Given the description of an element on the screen output the (x, y) to click on. 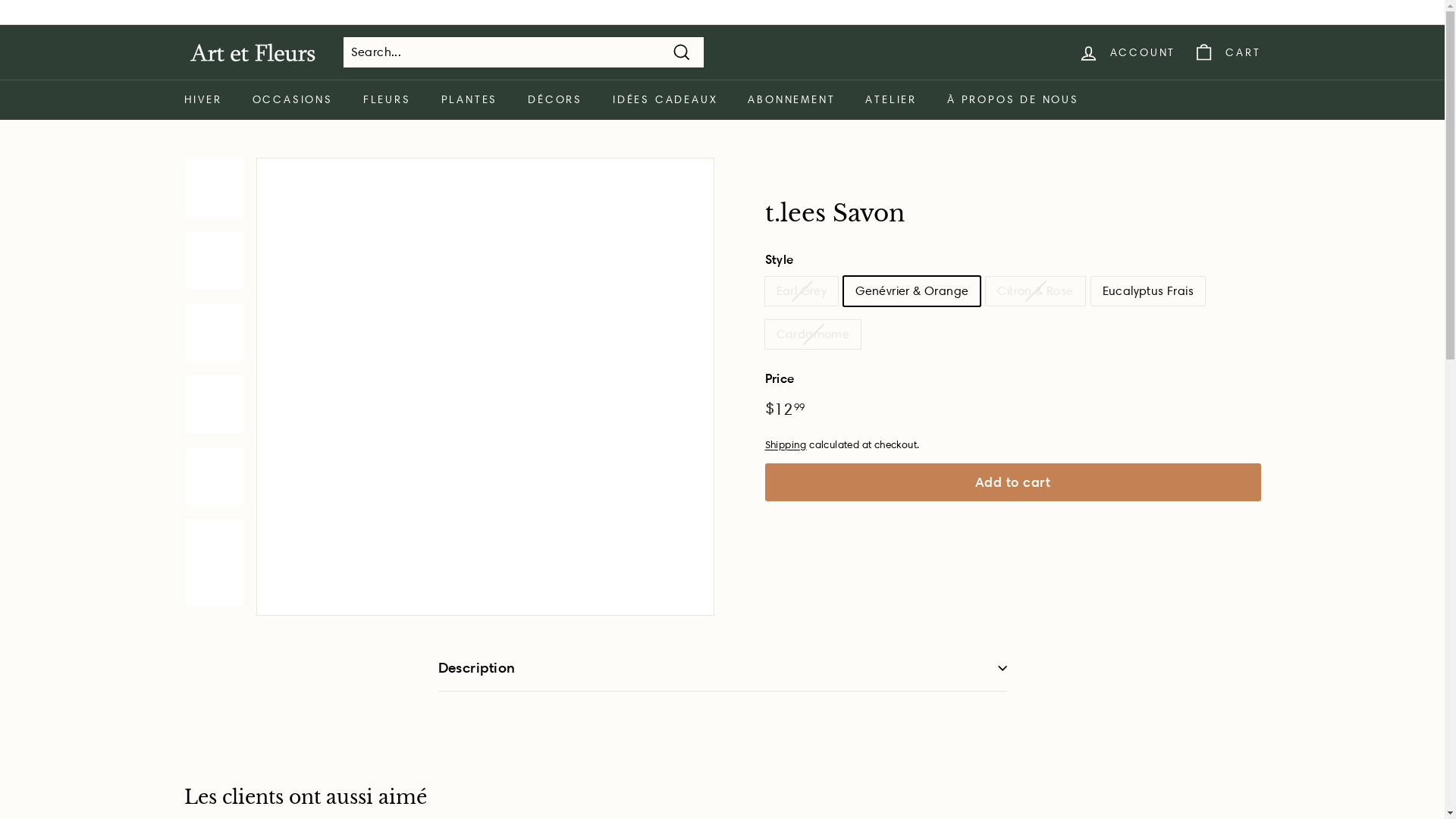
ACCOUNT Element type: text (1127, 52)
Description Element type: text (722, 668)
FLEURS Element type: text (387, 99)
Skip to content Element type: text (0, 0)
PLANTES Element type: text (469, 99)
HIVER Element type: text (202, 99)
OCCASIONS Element type: text (291, 99)
ATELIER Element type: text (890, 99)
ABONNEMENT Element type: text (791, 99)
Shipping Element type: text (785, 444)
Add to cart Element type: text (1012, 482)
